Given the description of an element on the screen output the (x, y) to click on. 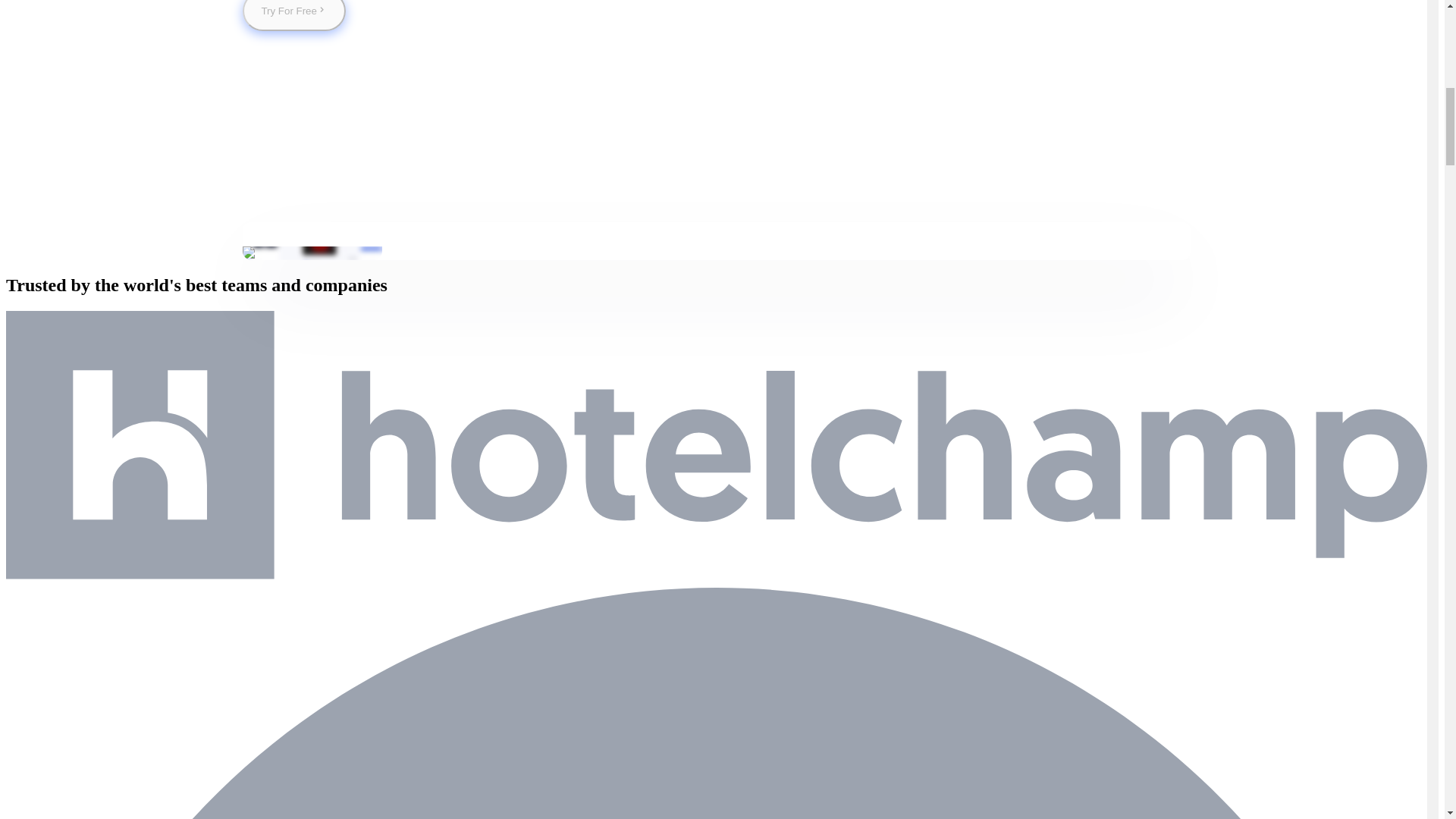
Try For Free (294, 15)
